Given the description of an element on the screen output the (x, y) to click on. 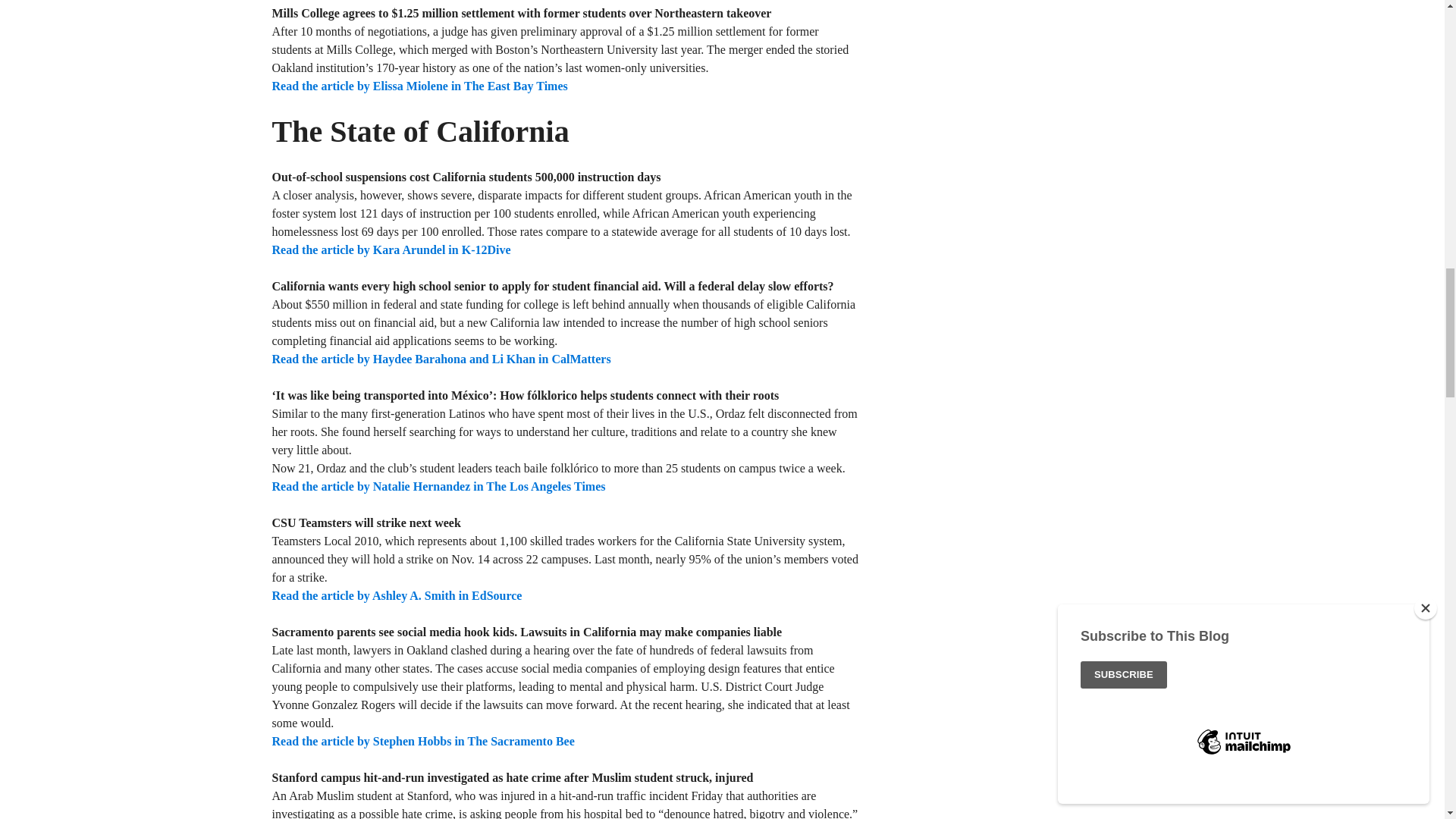
Read the article by Kara Arundel in K-12Dive (390, 249)
Read the article by Elissa Miolene in The East Bay Times (418, 85)
Read the article by Ashley A. Smith in EdSource (395, 594)
Read the article by Stephen Hobbs in The Sacramento Bee (421, 740)
